Given the description of an element on the screen output the (x, y) to click on. 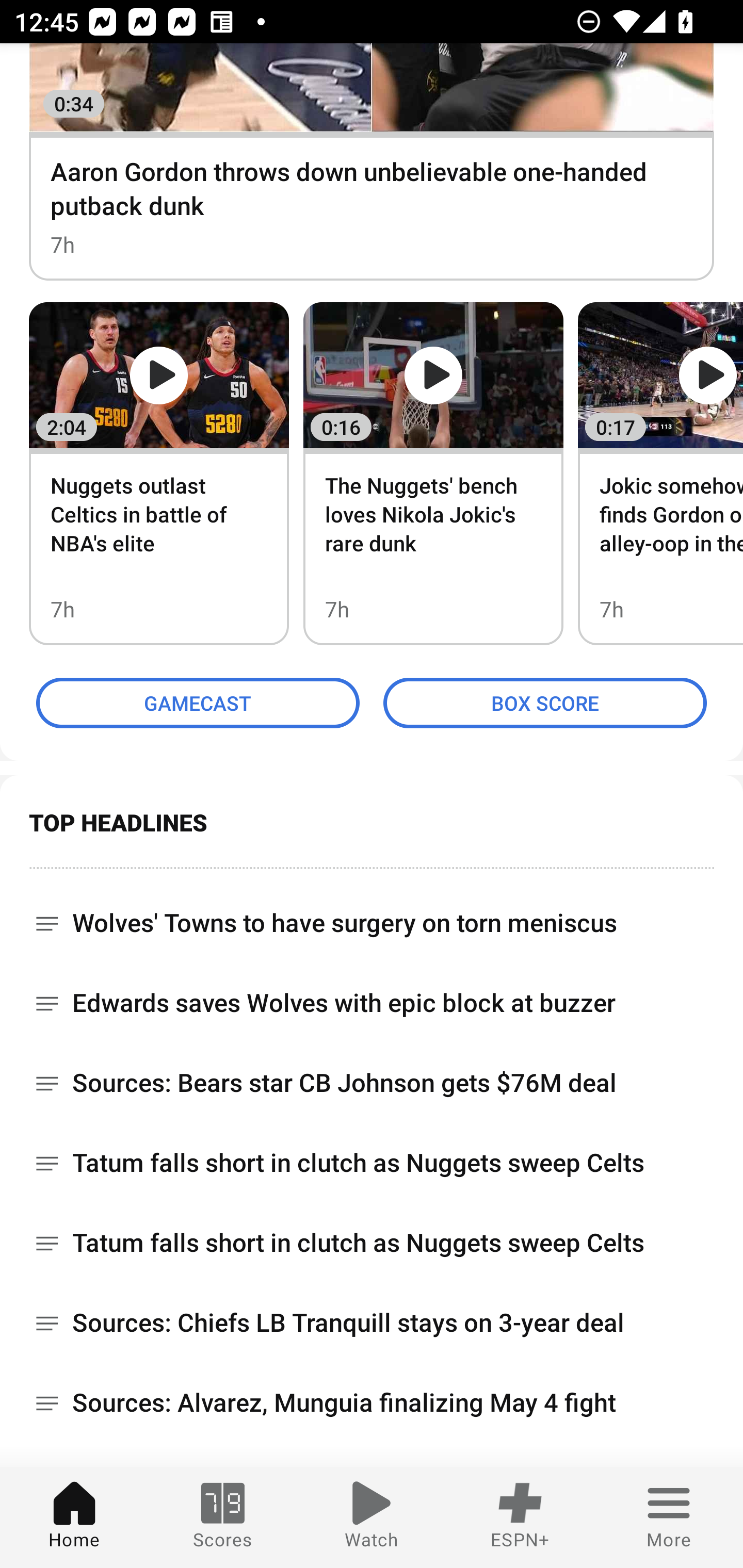
GAMECAST (197, 702)
BOX SCORE (544, 702)
 Wolves' Towns to have surgery on torn meniscus (371, 915)
 Edwards saves Wolves with epic block at buzzer (371, 1002)
 Sources: Bears star CB Johnson gets $76M deal (371, 1082)
 Sources: Alvarez, Munguia finalizing May 4 fight (371, 1402)
Scores (222, 1517)
Watch (371, 1517)
ESPN+ (519, 1517)
More (668, 1517)
